Given the description of an element on the screen output the (x, y) to click on. 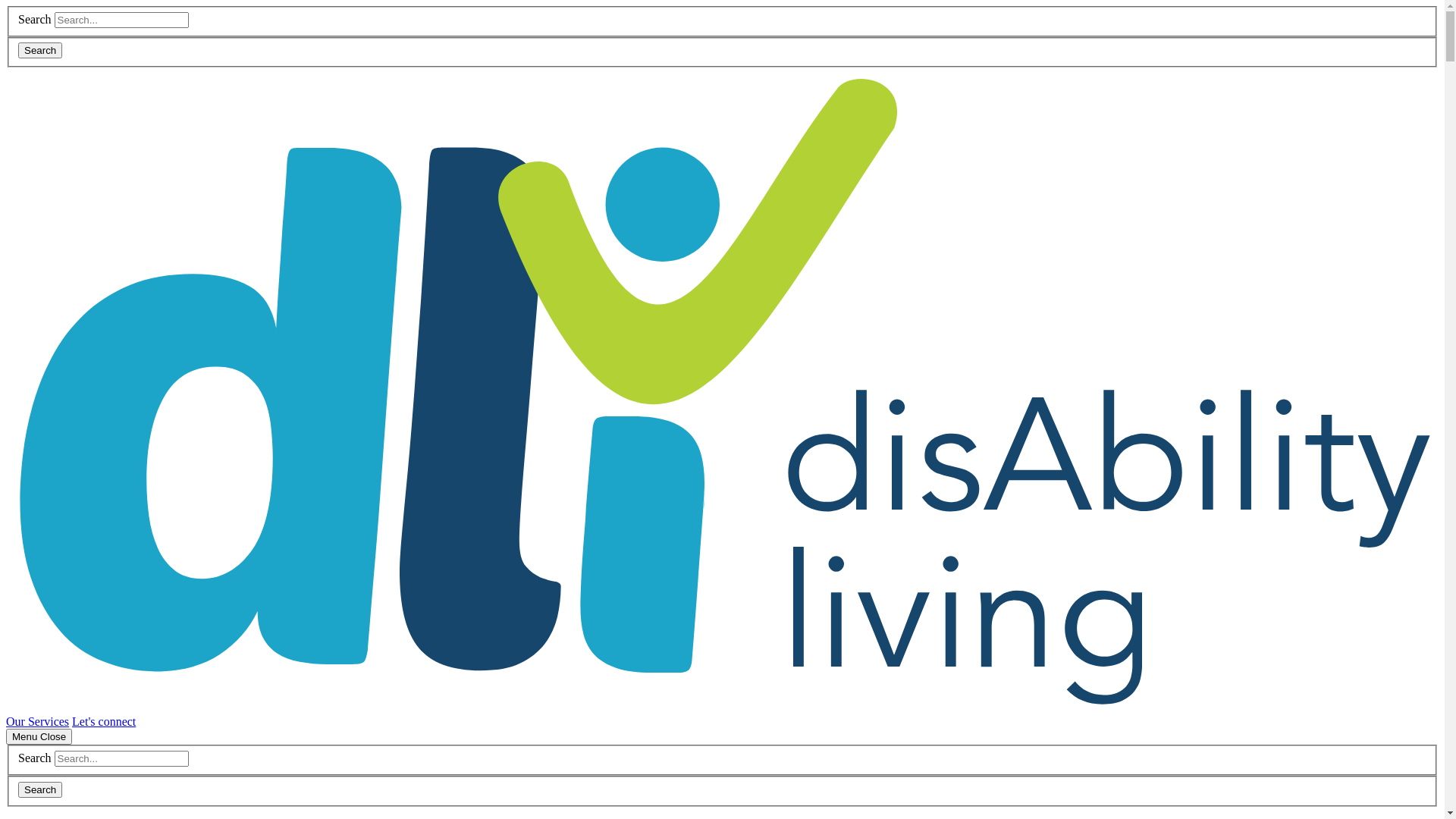
Let's connect Element type: text (103, 721)
Menu Close Element type: text (39, 736)
Our Services Element type: text (37, 721)
Search:  Element type: hover (121, 20)
disAbility Living Element type: hover (722, 707)
Search:  Element type: hover (121, 758)
Search Element type: text (40, 789)
Search Element type: text (40, 50)
